Given the description of an element on the screen output the (x, y) to click on. 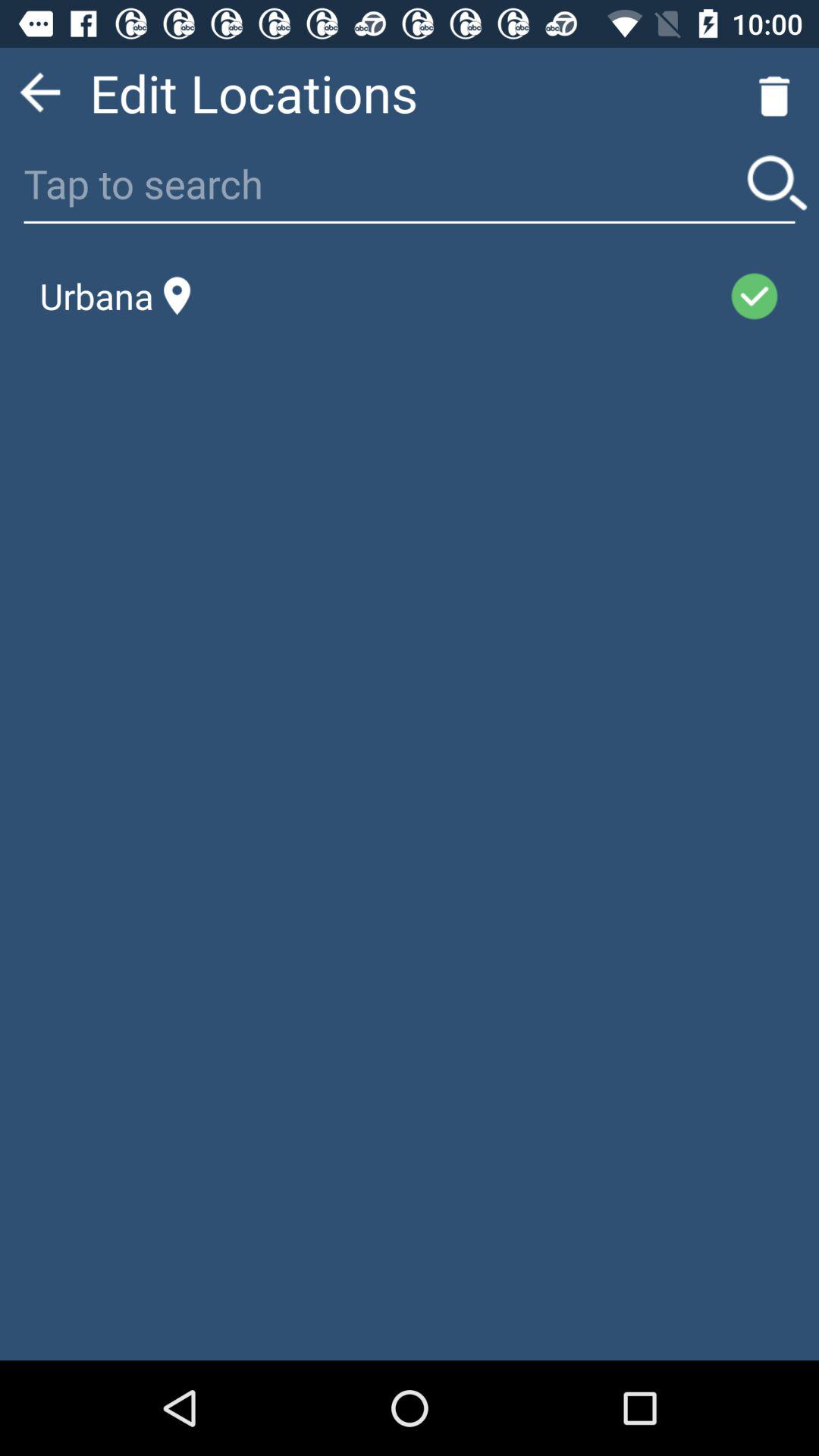
click icon to the left of the edit locations app (39, 92)
